Given the description of an element on the screen output the (x, y) to click on. 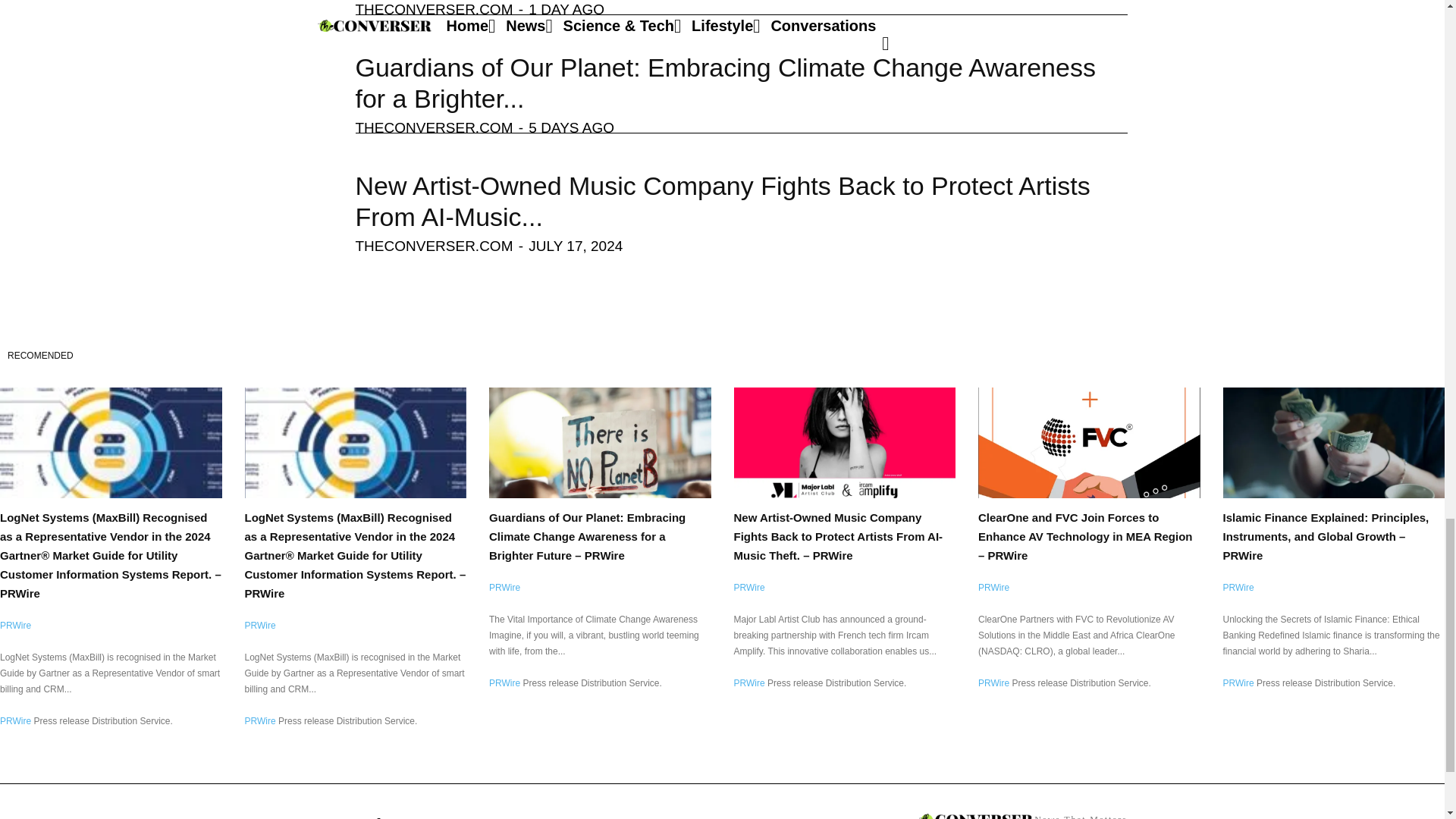
THECONVERSER.COM (433, 127)
THECONVERSER.COM (433, 9)
